Given the description of an element on the screen output the (x, y) to click on. 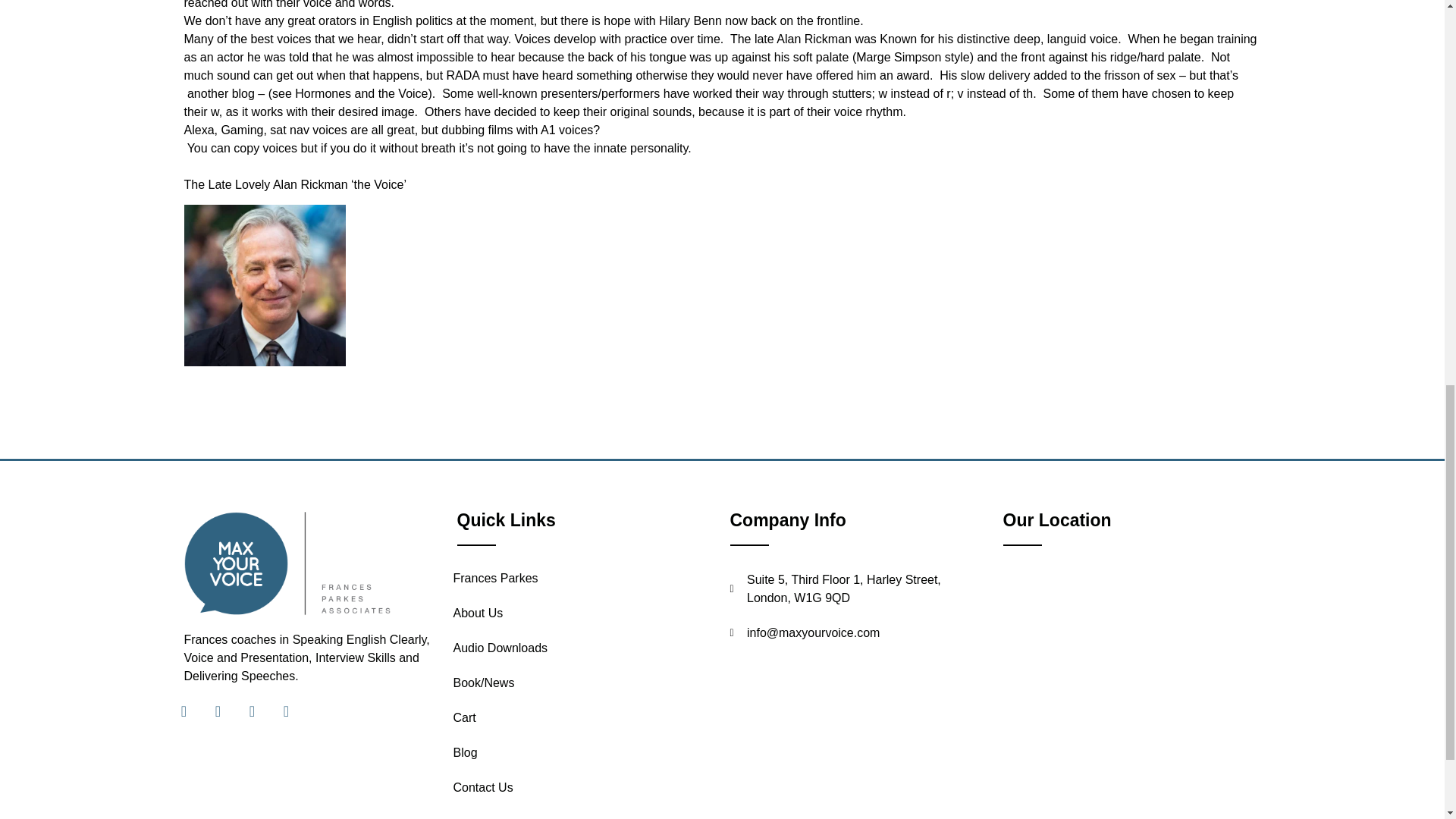
Cart (579, 718)
Blog (579, 752)
Contact Us (579, 787)
About Us (579, 613)
Frances Parkes (579, 578)
Audio Downloads (579, 647)
